Given the description of an element on the screen output the (x, y) to click on. 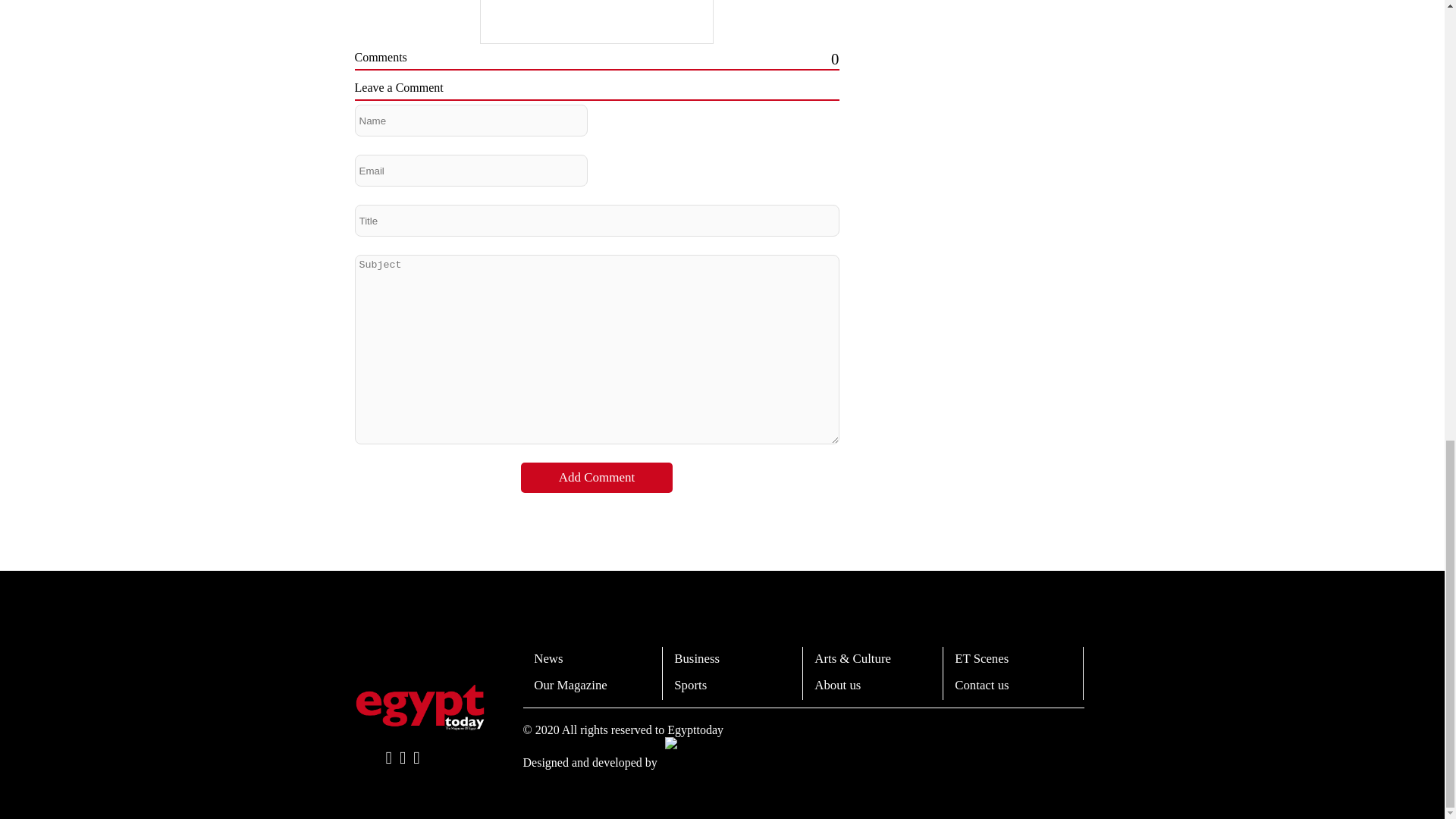
Add Comment (596, 477)
EgyptToday (419, 707)
